Given the description of an element on the screen output the (x, y) to click on. 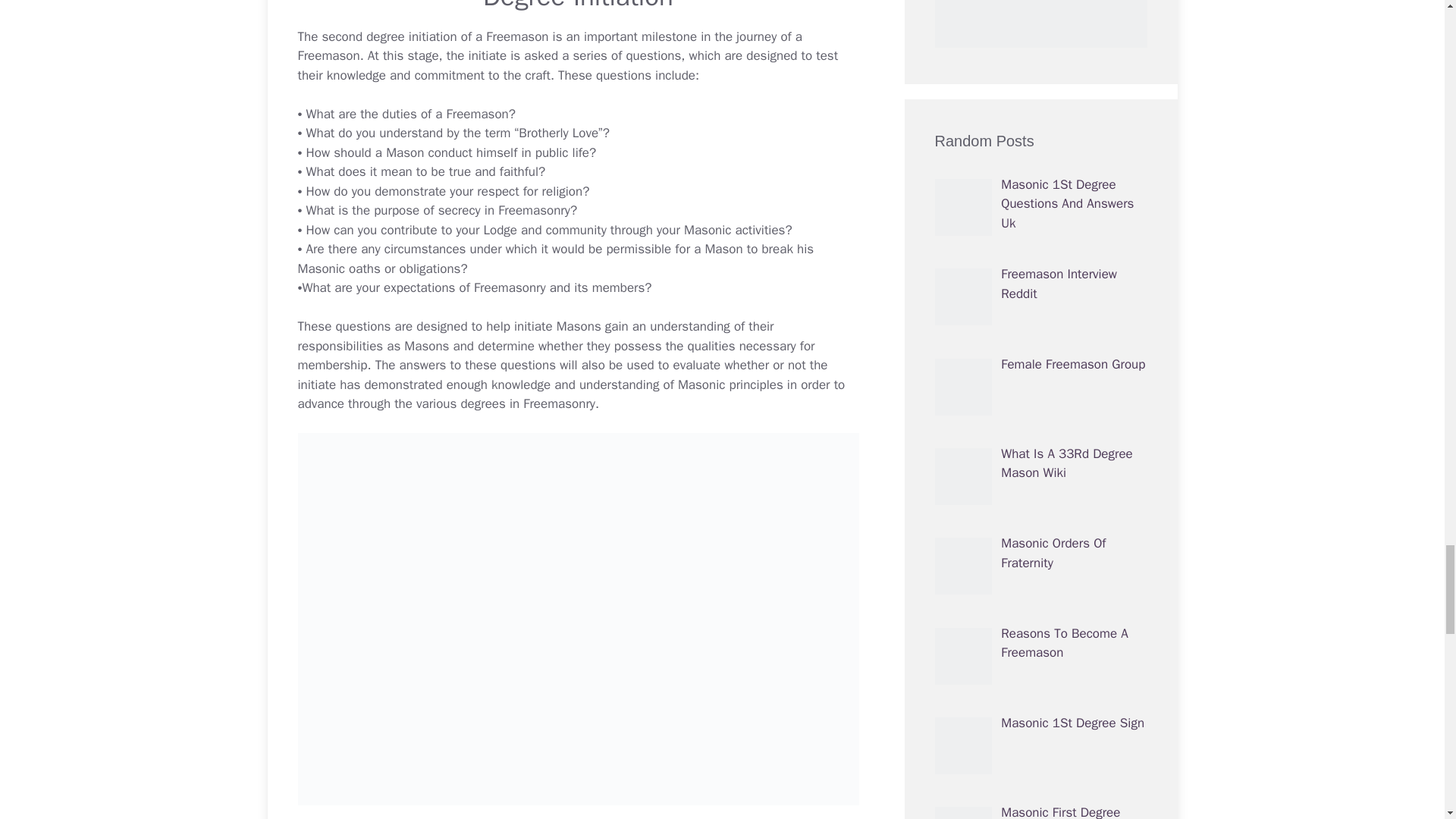
initiate (533, 326)
Masonic Initiation Reddit (533, 326)
Freemason Second Degree Salute (341, 36)
second (341, 36)
